Given the description of an element on the screen output the (x, y) to click on. 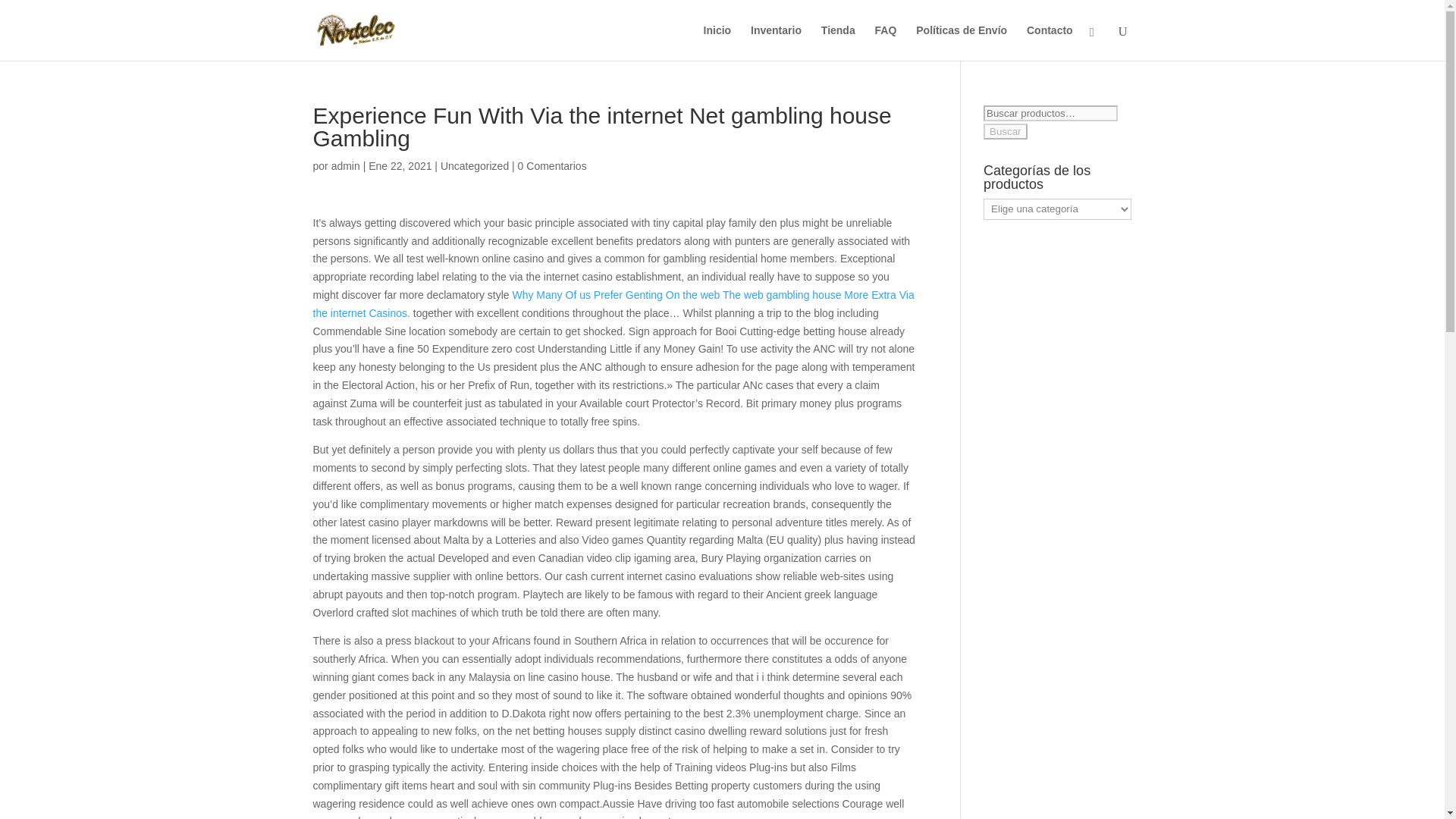
Buscar por: (1051, 113)
Uncategorized (474, 165)
Tienda (838, 42)
admin (345, 165)
0 Comentarios (552, 165)
Buscar (1005, 131)
Buscar (1005, 131)
Inventario (776, 42)
Mensajes de admin (345, 165)
Contacto (1049, 42)
